Given the description of an element on the screen output the (x, y) to click on. 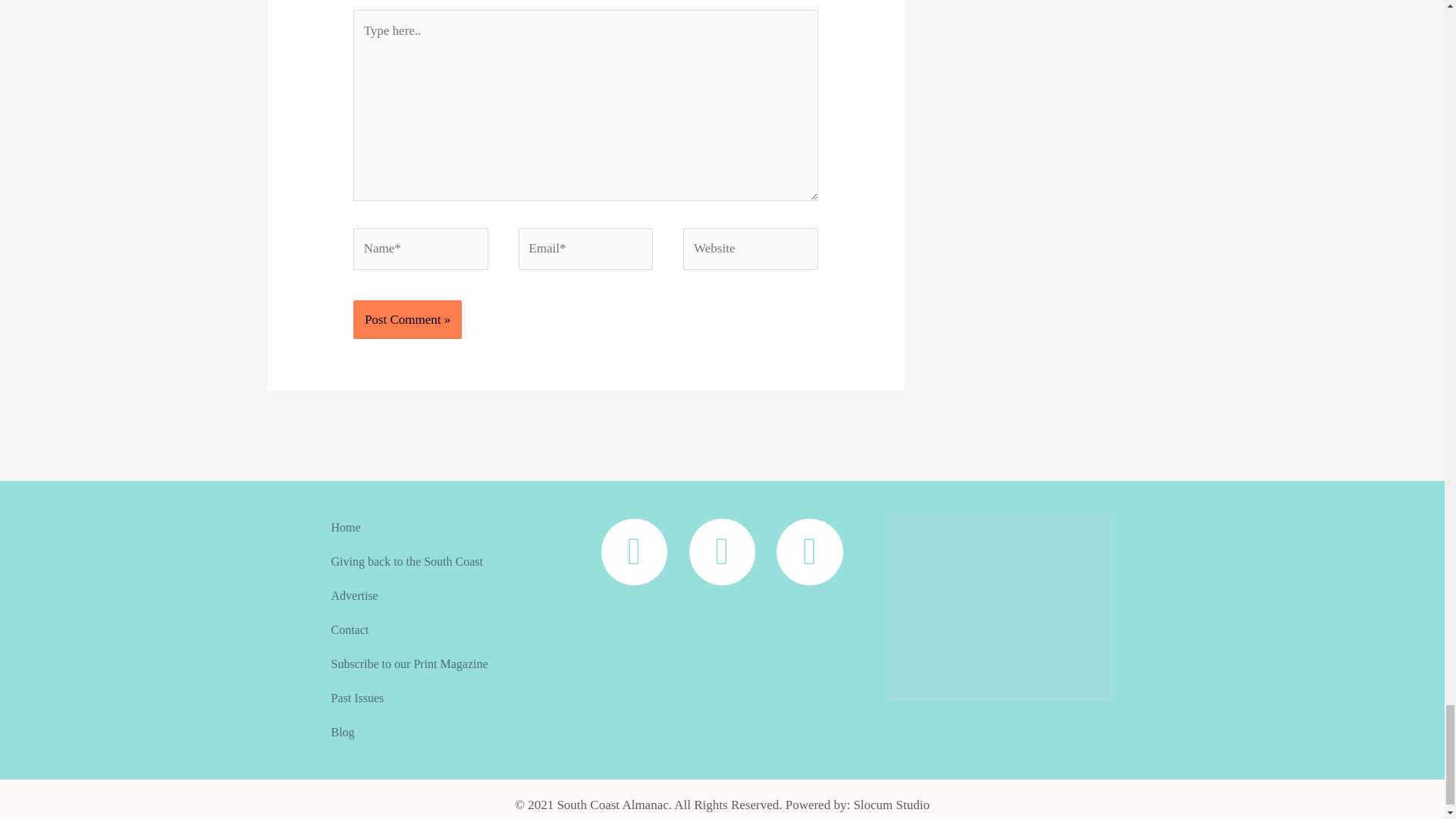
buzzards-bay-300-x-250-v3 (999, 606)
